Given the description of an element on the screen output the (x, y) to click on. 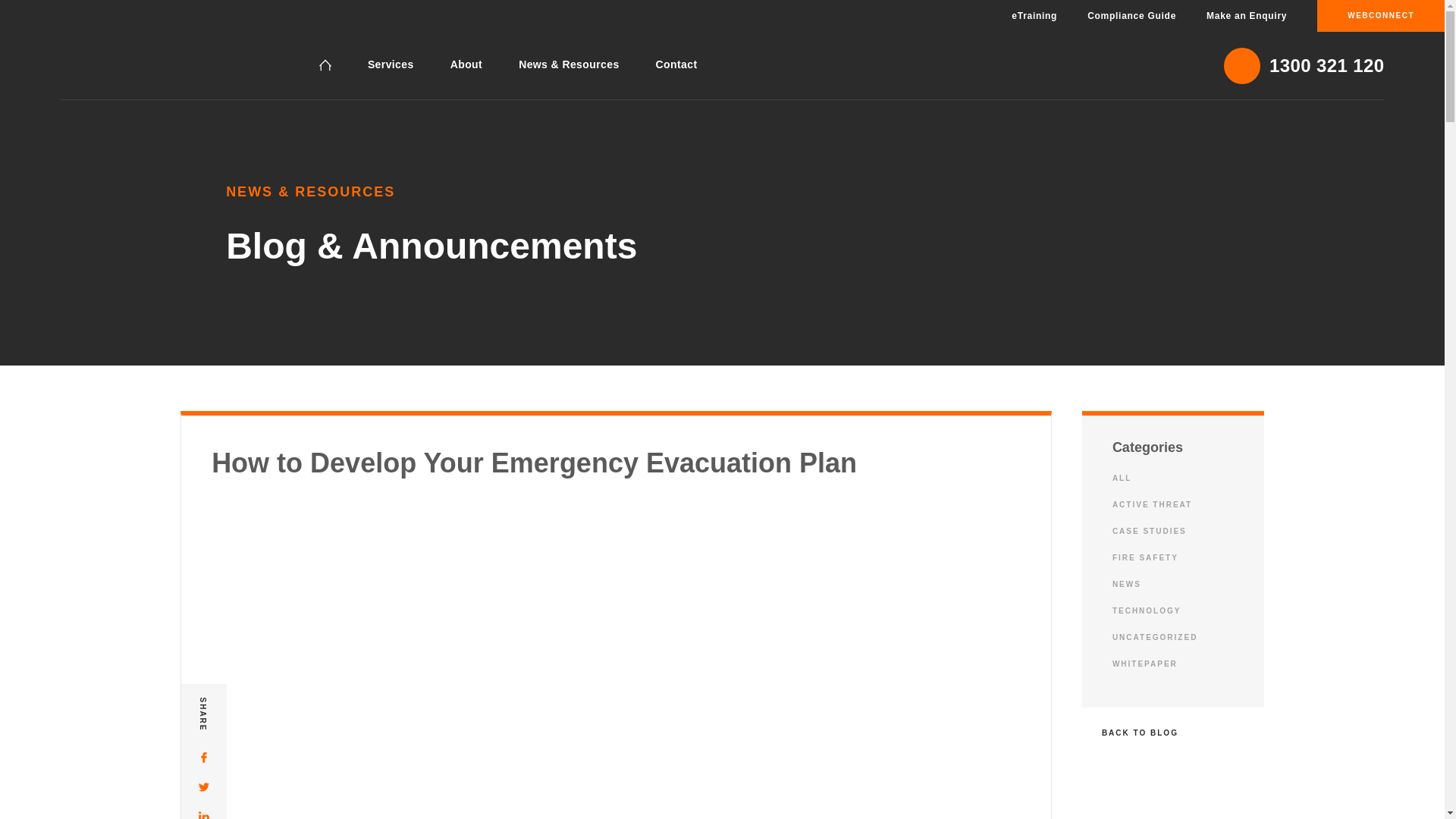
Services (390, 64)
Contact (676, 64)
1300 321 120 (1304, 65)
Make an Enquiry (1246, 15)
eTraining (1033, 15)
How to Develop Your Emergency Evacuation Plan (106, 65)
Compliance Guide (1131, 15)
About (466, 64)
